Given the description of an element on the screen output the (x, y) to click on. 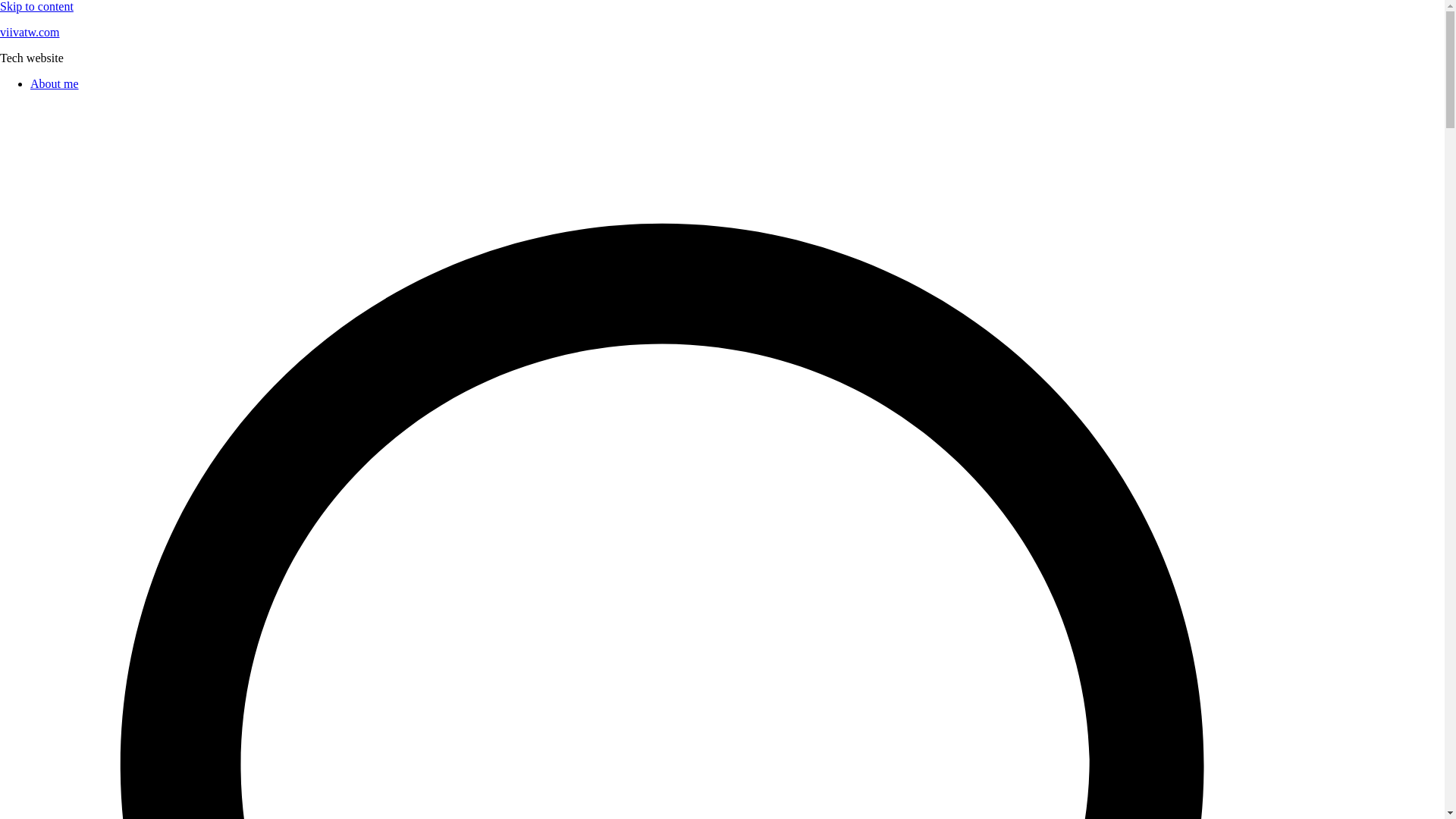
viivatw.com (29, 31)
Skip to content (37, 6)
About me (54, 83)
